Given the description of an element on the screen output the (x, y) to click on. 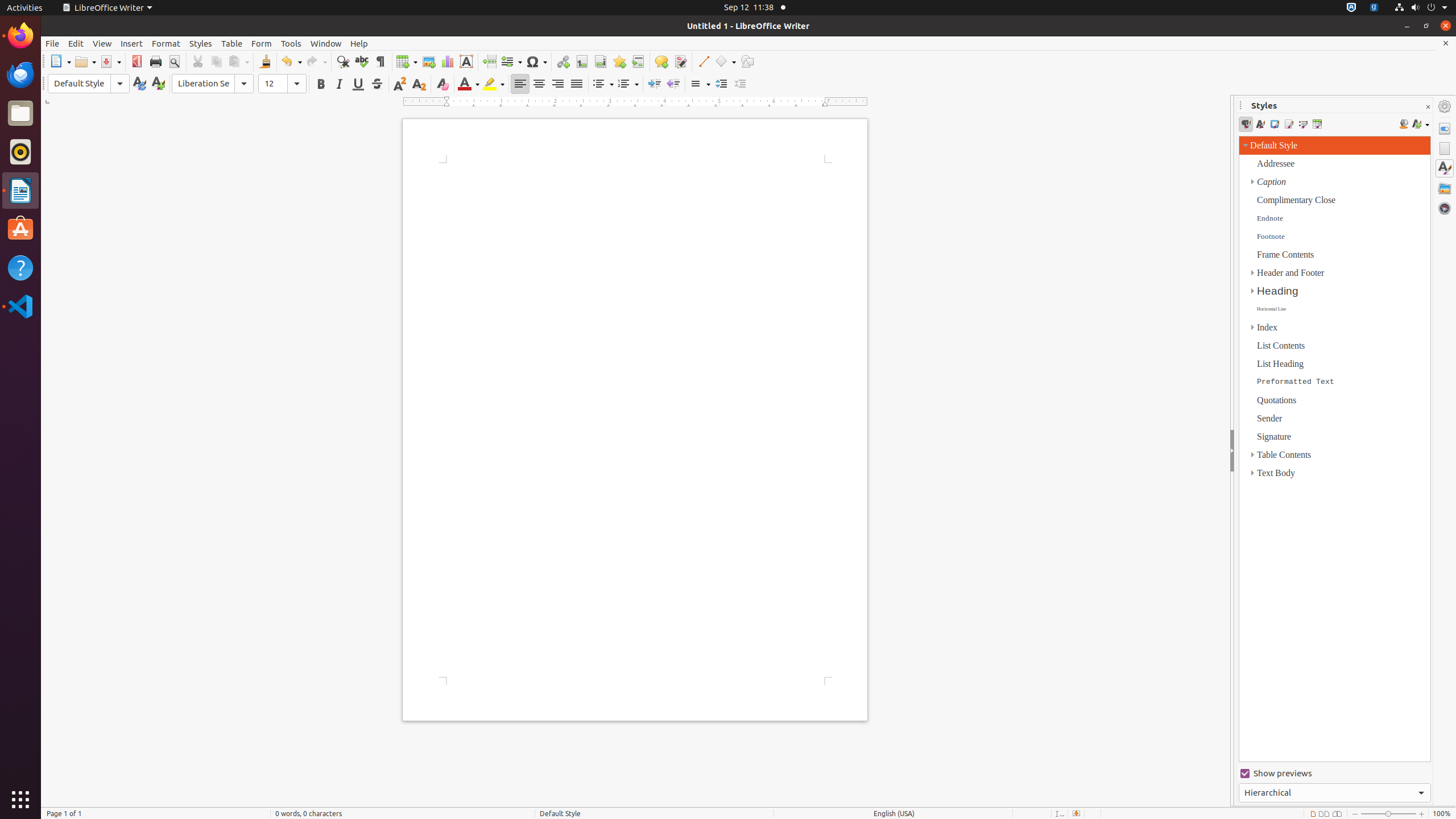
Close Sidebar Deck Element type: push-button (1427, 106)
Table Element type: menu (231, 43)
Thunderbird Mail Element type: push-button (20, 74)
Center Element type: toggle-button (538, 83)
Symbol Element type: push-button (535, 61)
